Given the description of an element on the screen output the (x, y) to click on. 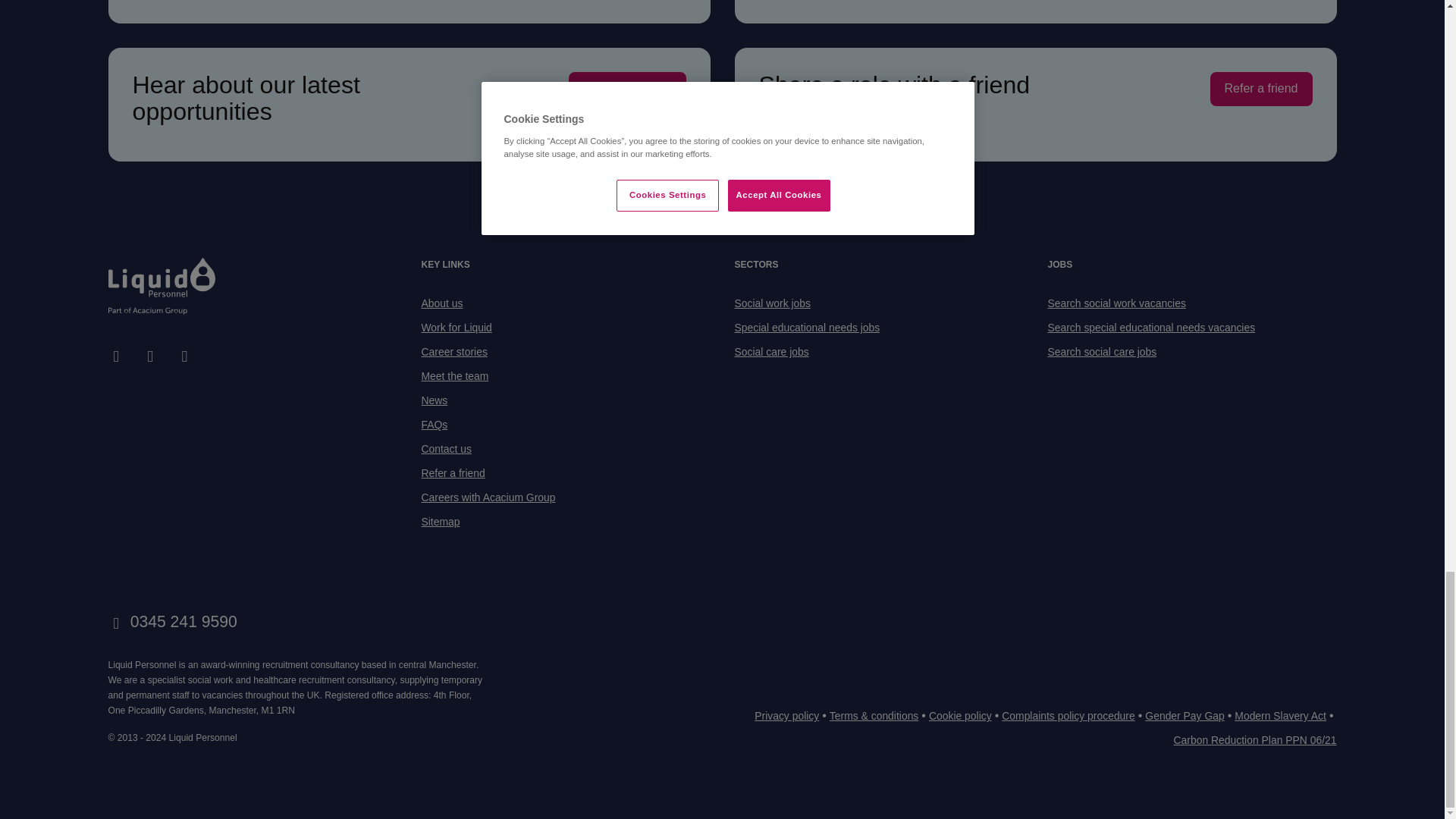
Facebook (115, 355)
Instagram (150, 355)
Linkedin (184, 355)
